Given the description of an element on the screen output the (x, y) to click on. 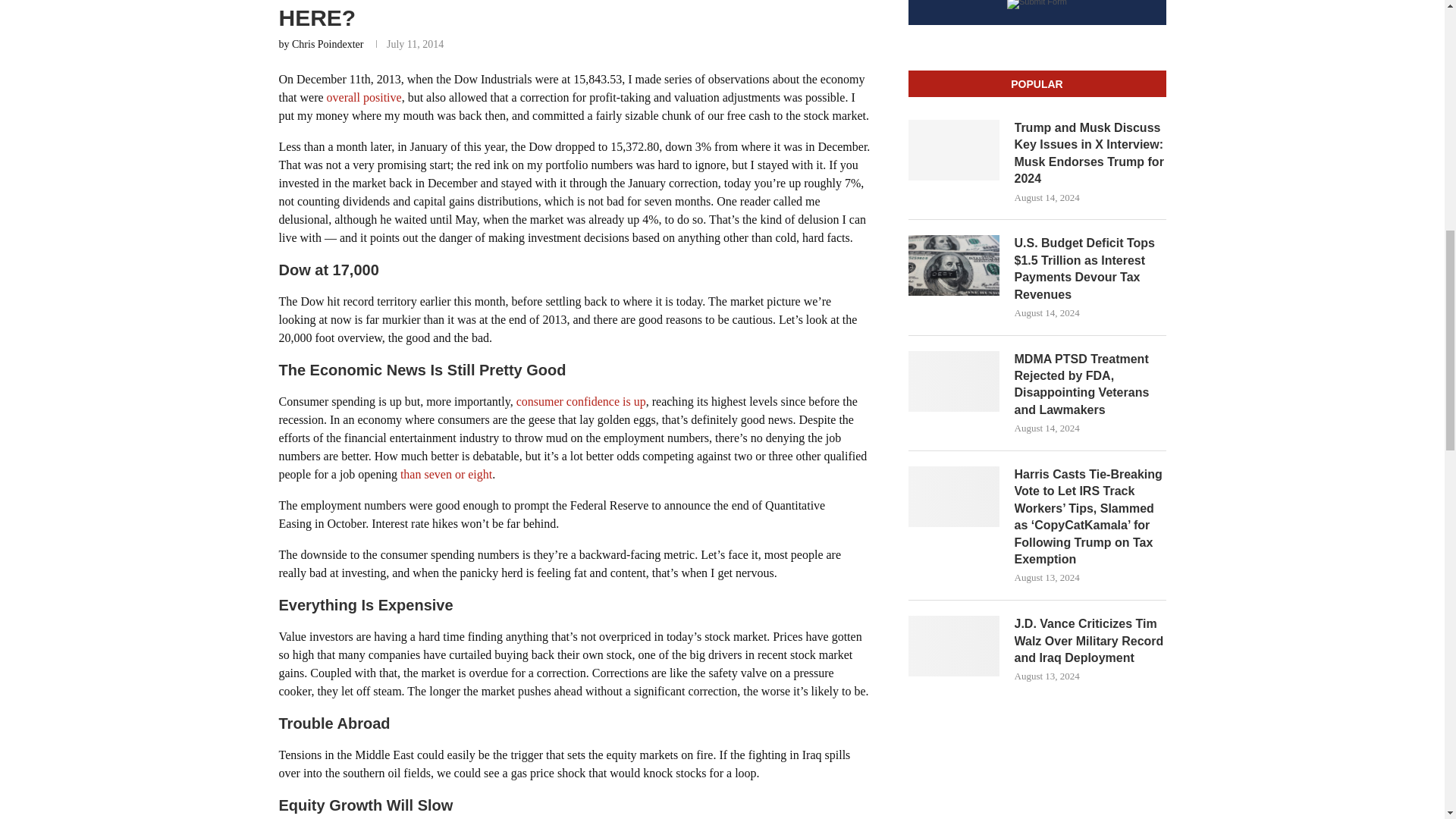
consumer confidence is up (581, 400)
overall positive (363, 97)
Chris Poindexter (328, 43)
than seven or eight (446, 473)
